Given the description of an element on the screen output the (x, y) to click on. 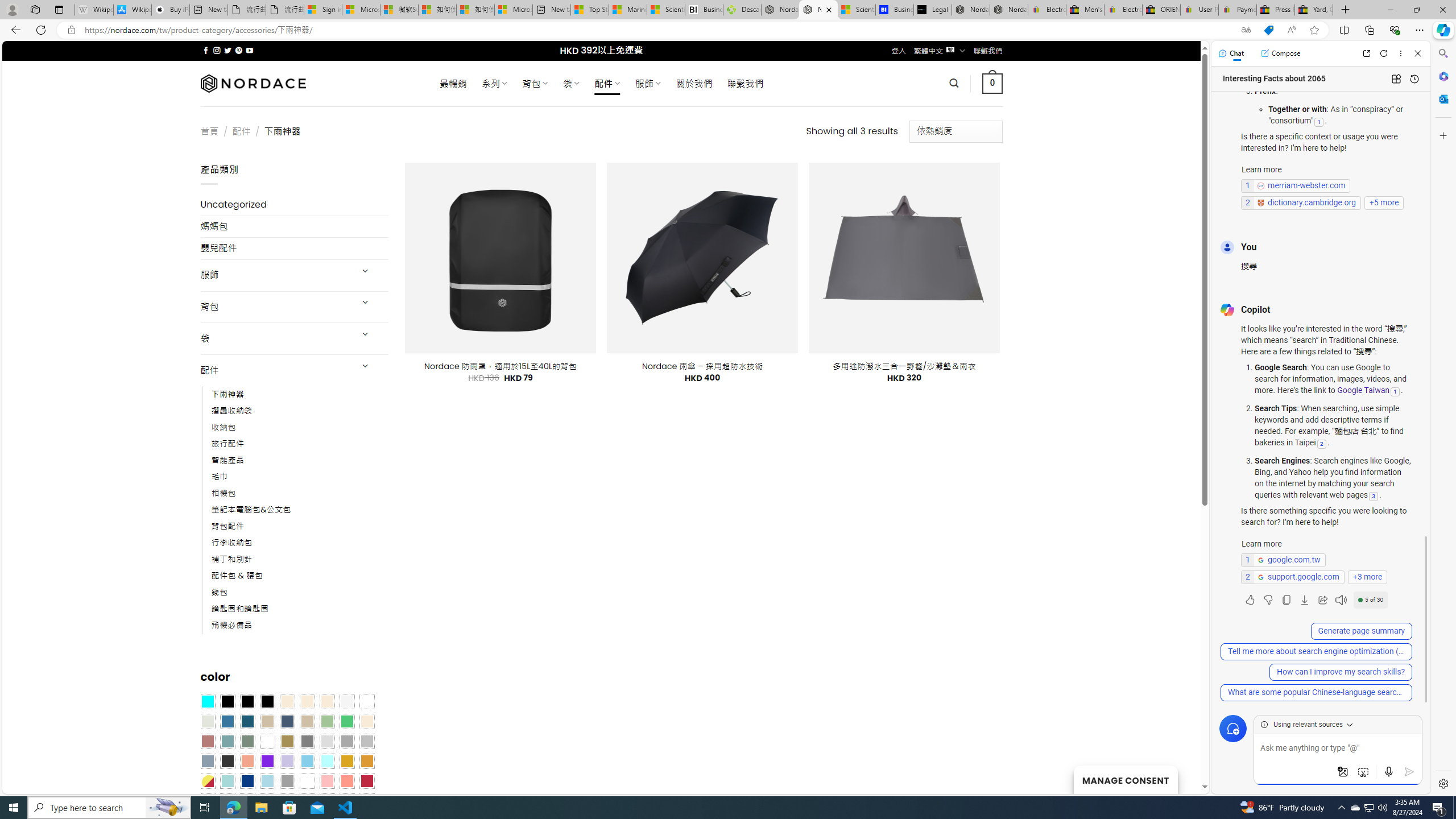
Cream (327, 701)
